Given the description of an element on the screen output the (x, y) to click on. 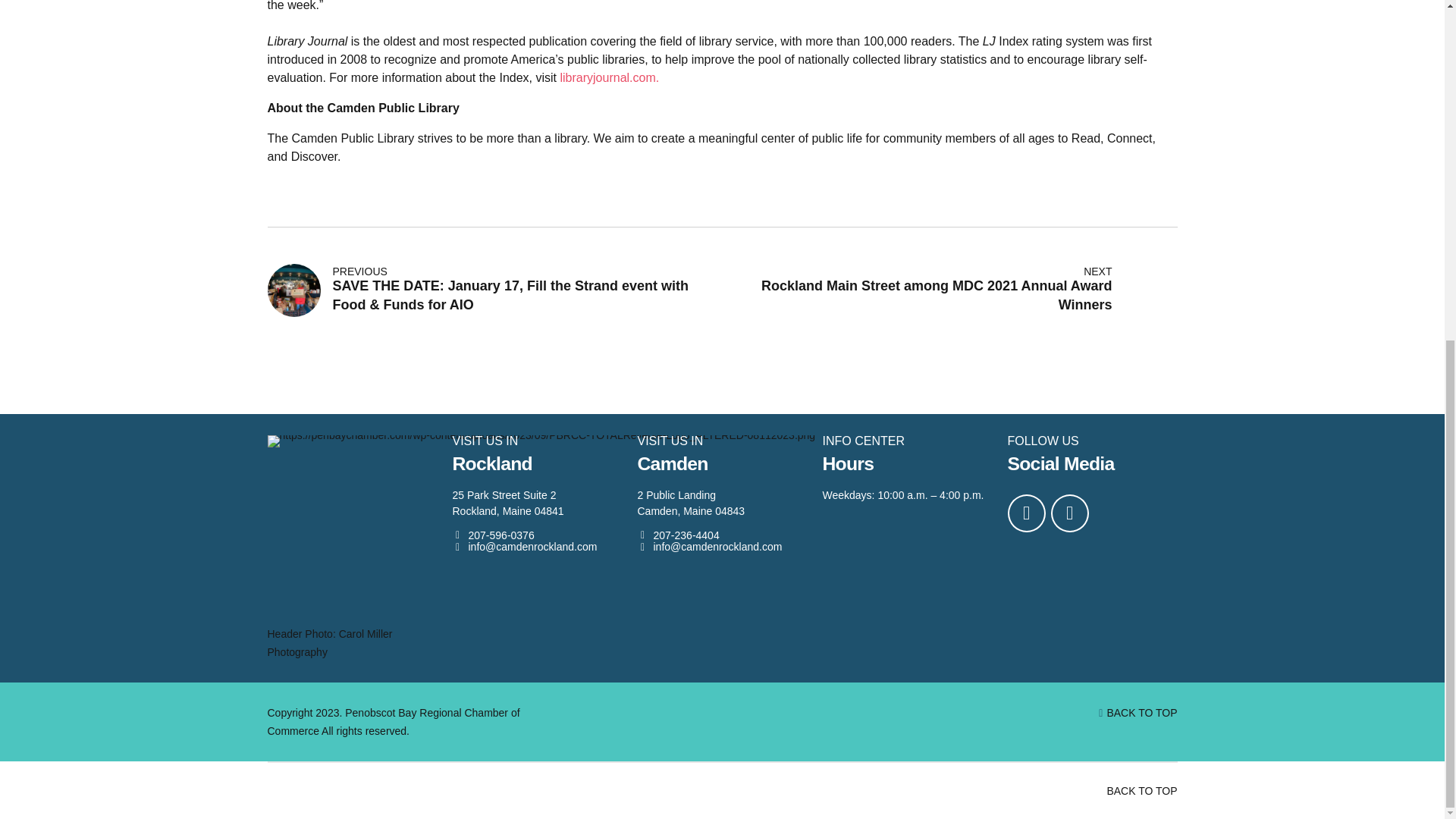
207-596-0376 (492, 535)
libraryjournal.com. (609, 77)
207-596-0376 (492, 535)
BACK TO TOP (1141, 712)
207-236-4404 (678, 535)
207-236-4404 (678, 535)
